Given the description of an element on the screen output the (x, y) to click on. 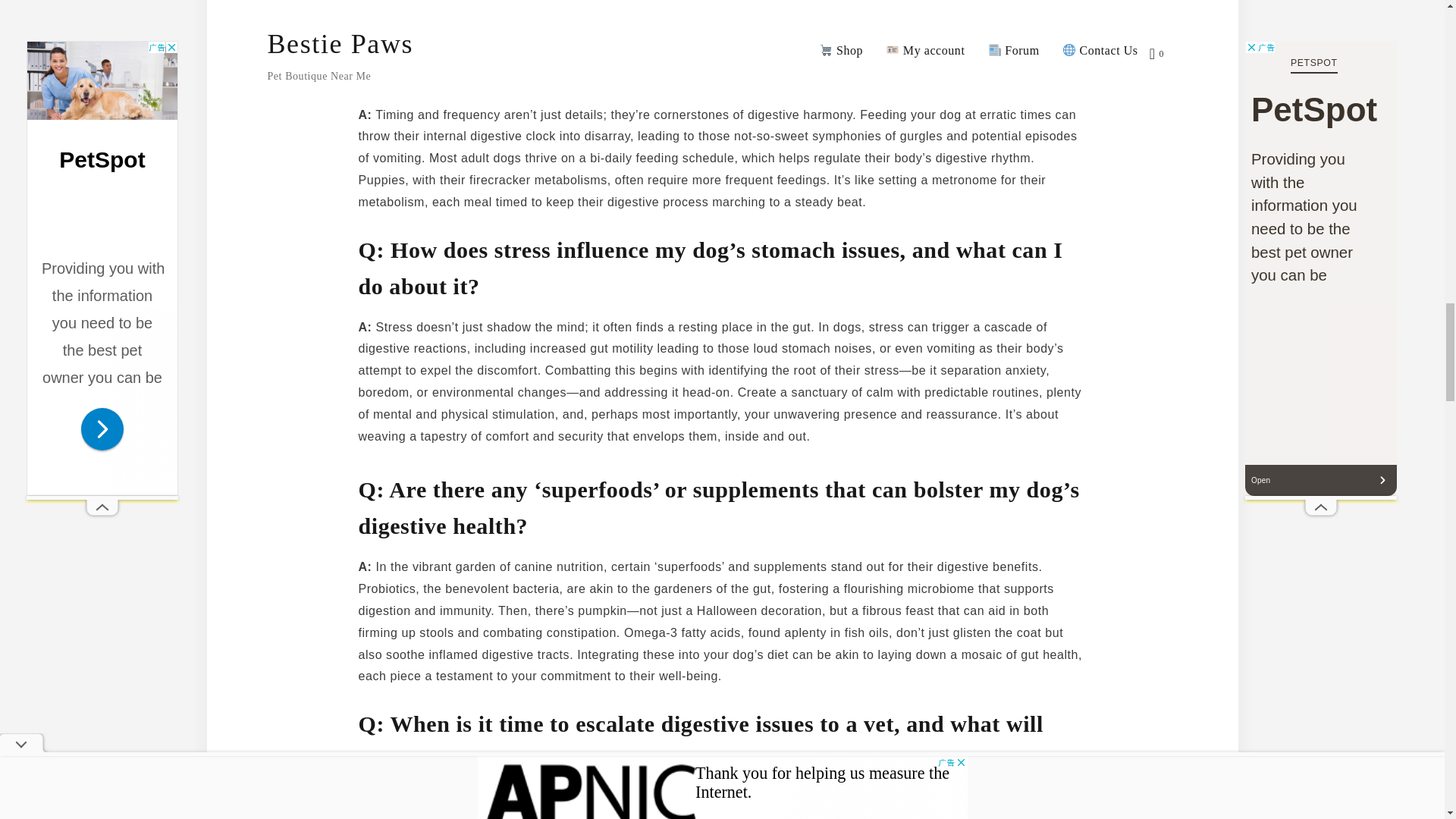
Advertisement (722, 6)
